Given the description of an element on the screen output the (x, y) to click on. 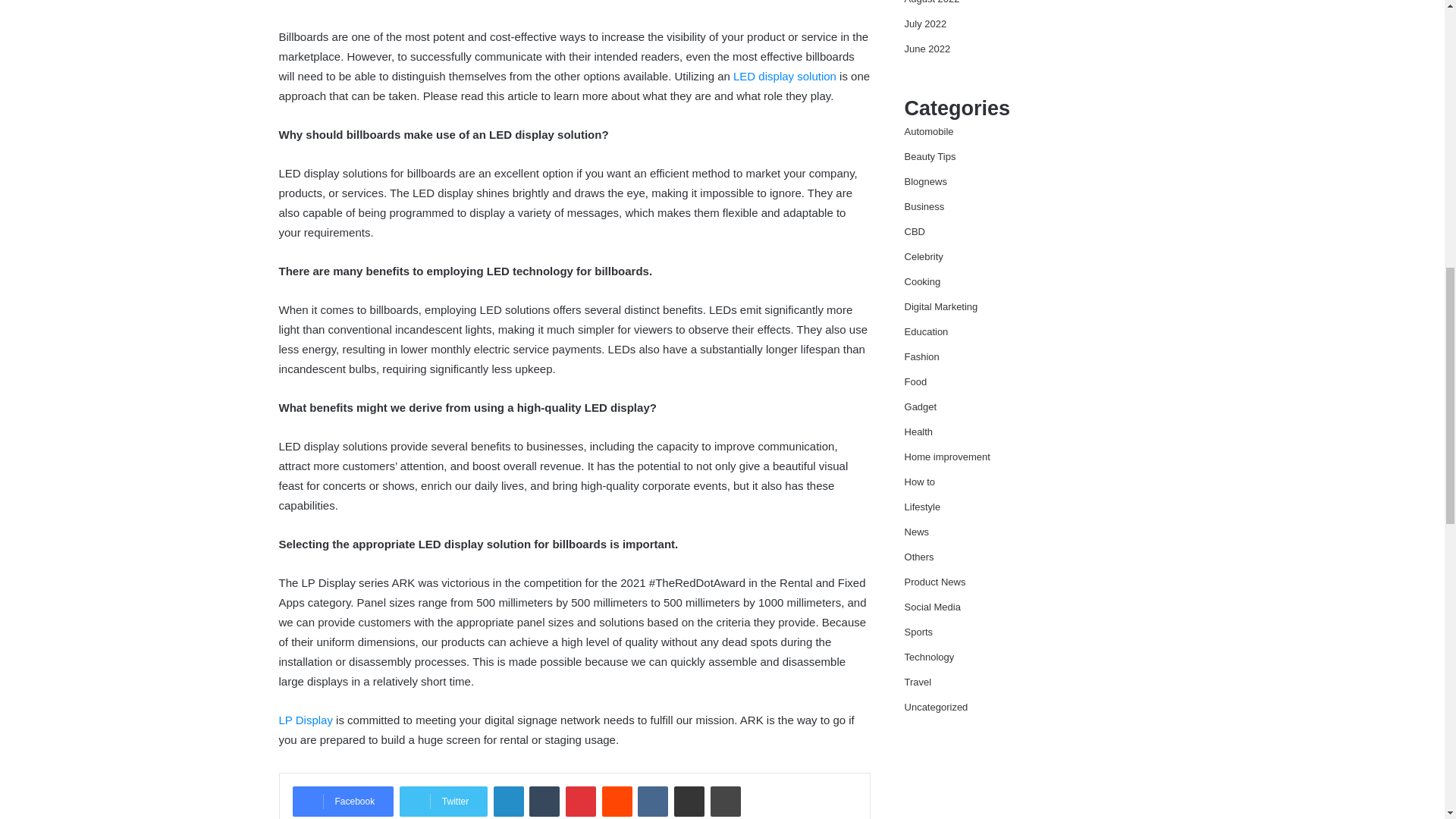
LED display solution (784, 75)
Twitter (442, 801)
Print (725, 801)
Print (725, 801)
VKontakte (652, 801)
Share via Email (689, 801)
Facebook (343, 801)
LinkedIn (508, 801)
Share via Email (689, 801)
LP Display (306, 719)
